Given the description of an element on the screen output the (x, y) to click on. 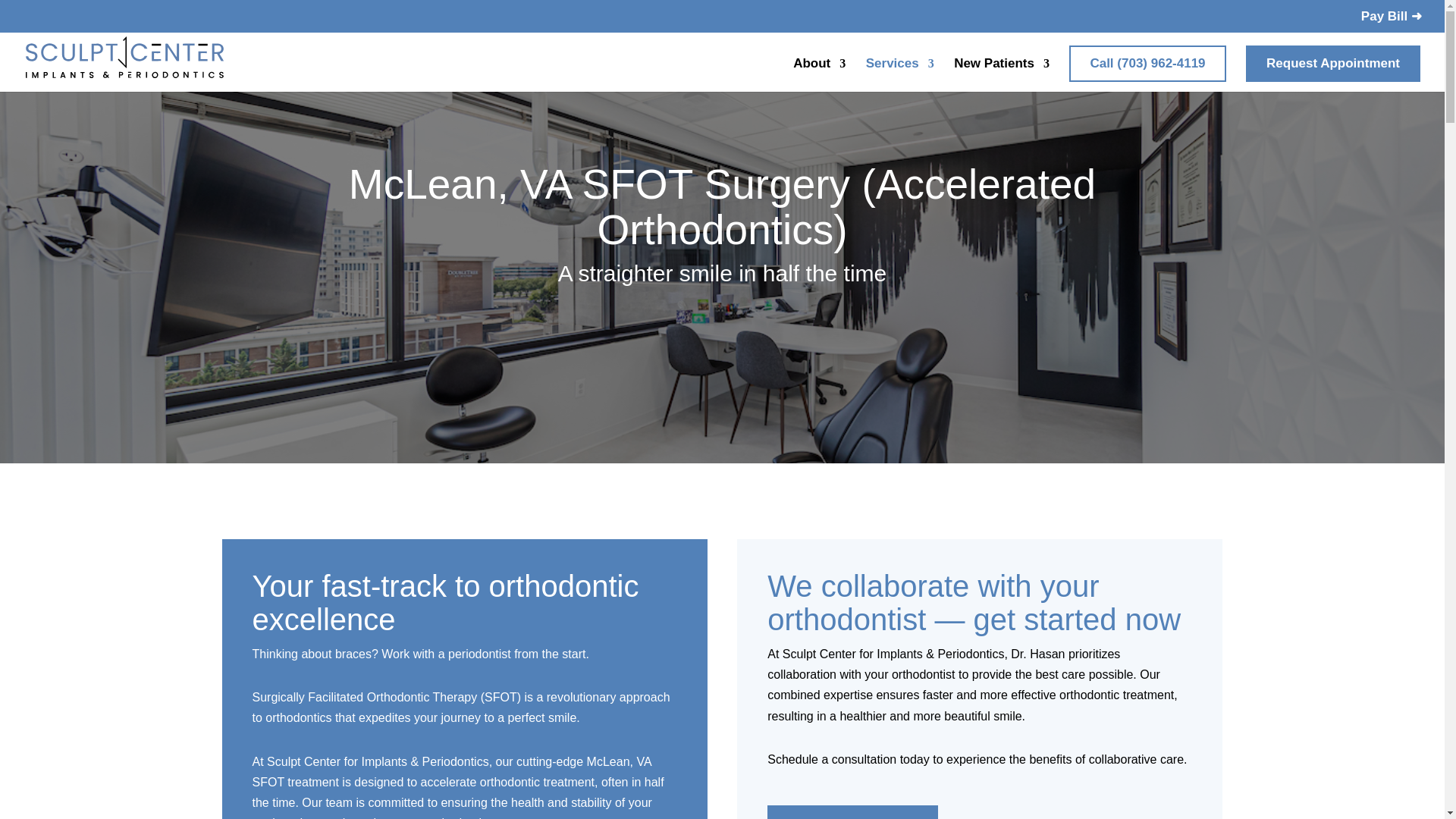
Services (900, 74)
Request Appointment (852, 812)
Request Appointment (1333, 63)
About (819, 74)
New Patients (1001, 74)
